Given the description of an element on the screen output the (x, y) to click on. 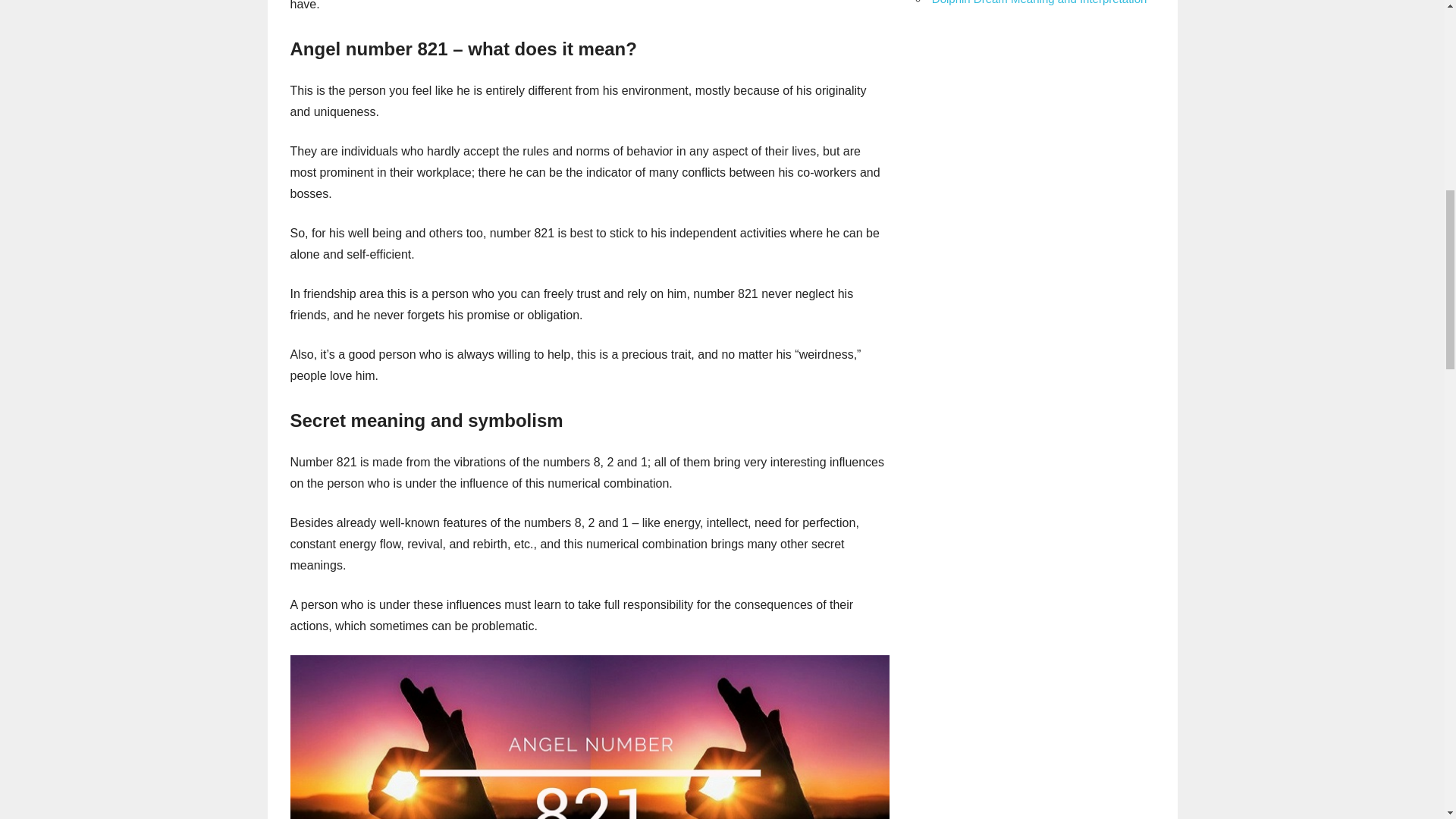
Dolphin Dream Meaning and Interpretation (1039, 2)
